Given the description of an element on the screen output the (x, y) to click on. 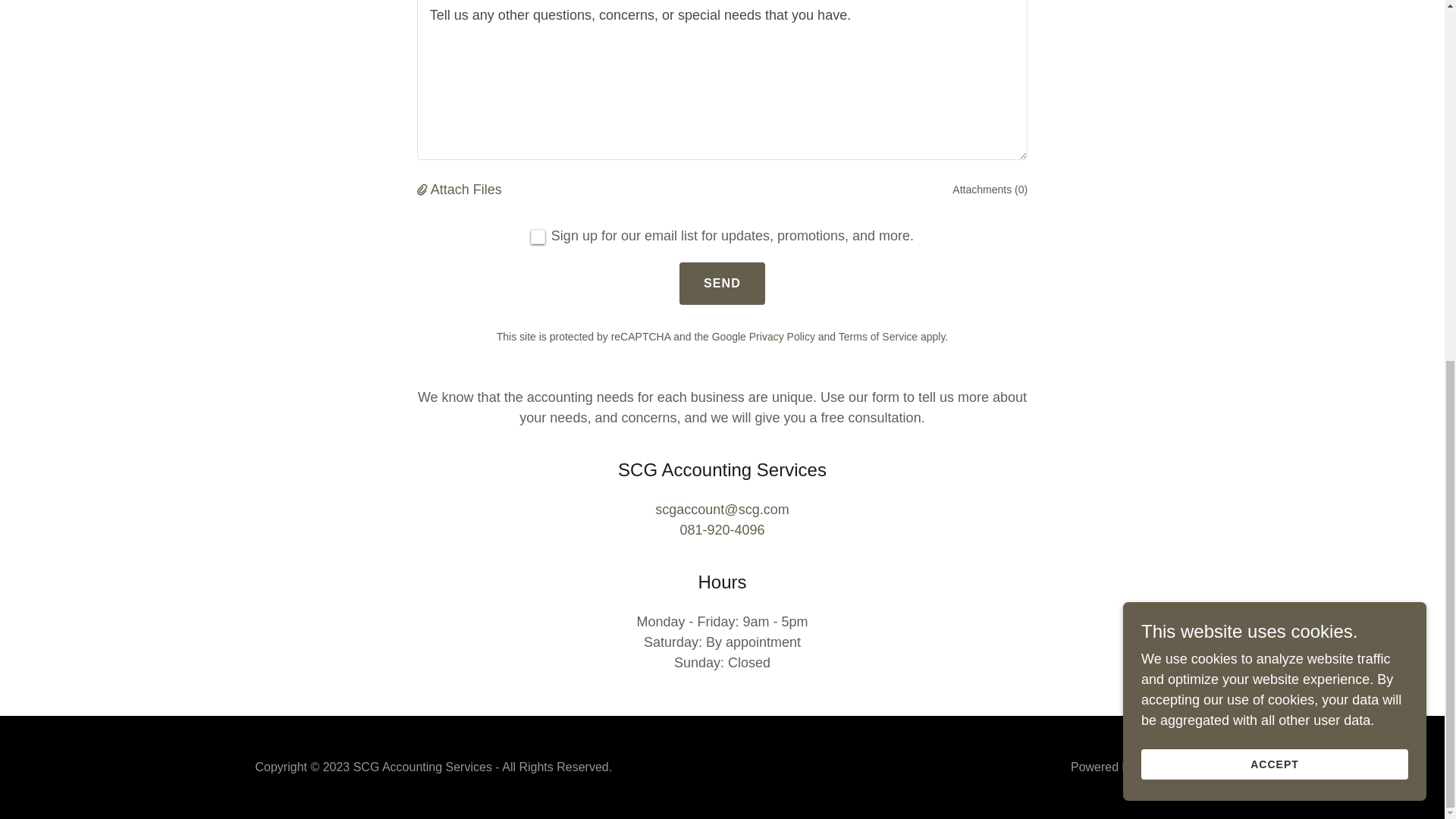
Privacy Policy (782, 336)
Terms of Service (877, 336)
GoDaddy (1163, 766)
SEND (722, 283)
ACCEPT (1274, 122)
081-920-4096 (721, 529)
